Given the description of an element on the screen output the (x, y) to click on. 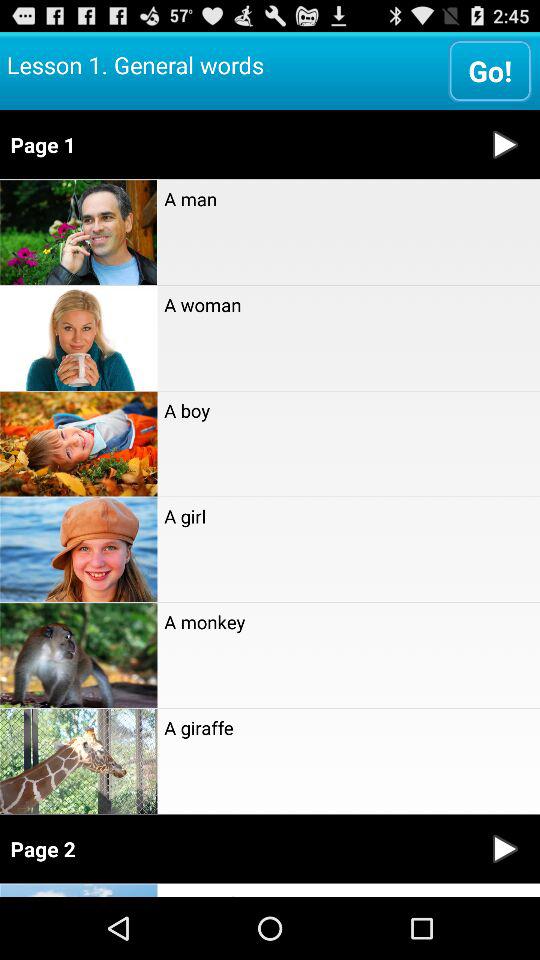
swipe until the a boy icon (348, 410)
